Given the description of an element on the screen output the (x, y) to click on. 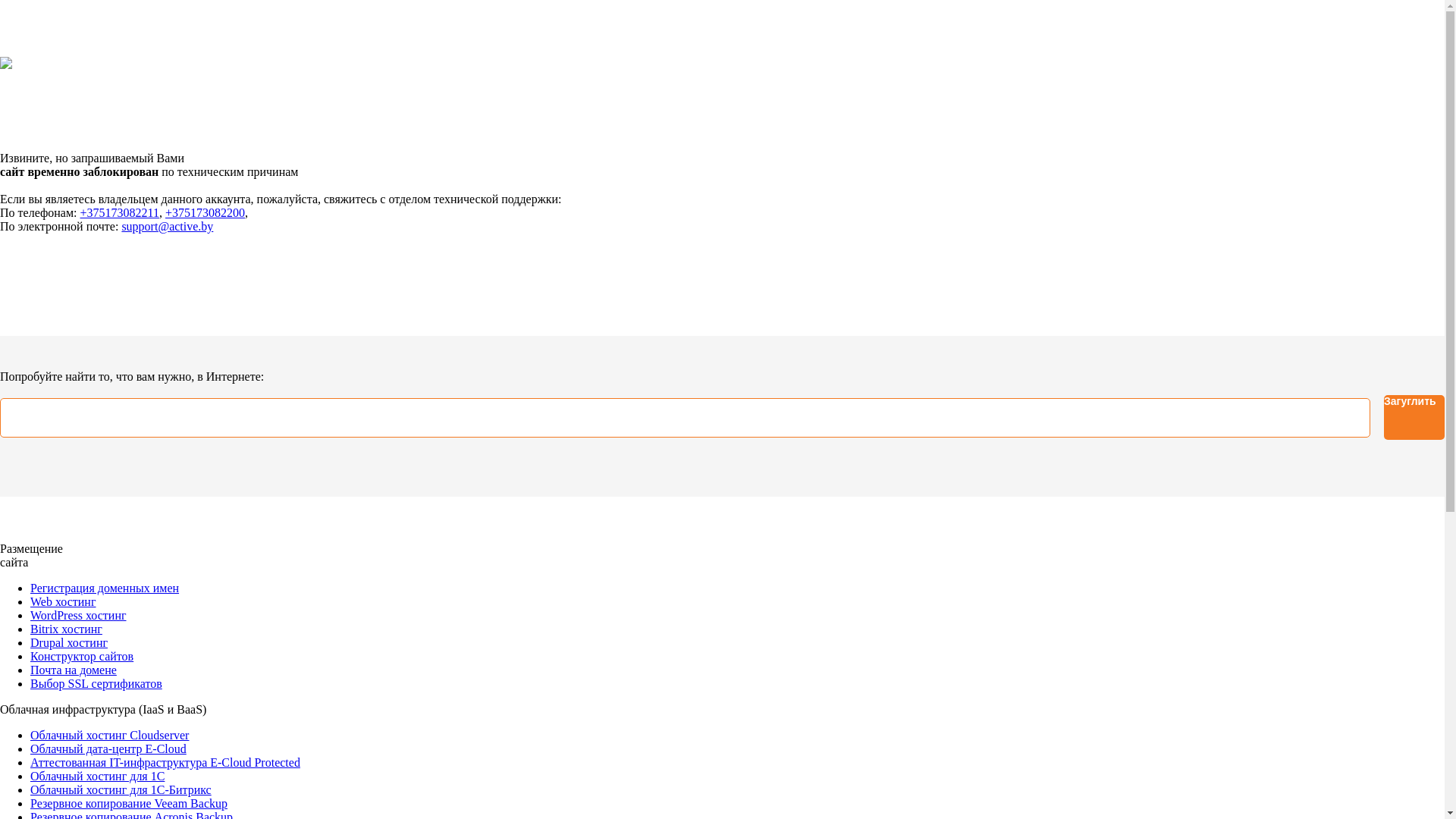
+375173082200 Element type: text (204, 212)
+375173082211 Element type: text (119, 212)
support@active.by Element type: text (167, 225)
